Given the description of an element on the screen output the (x, y) to click on. 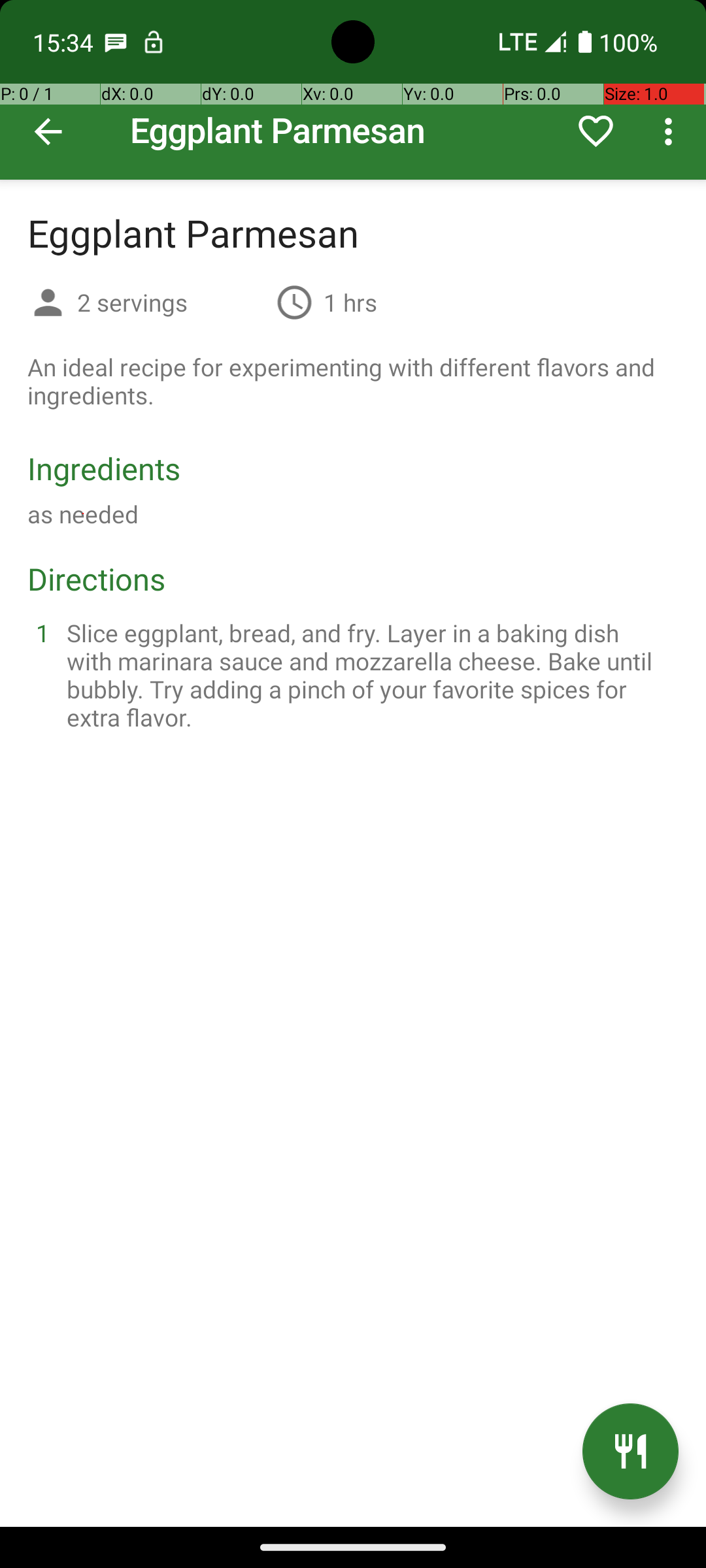
Slice eggplant, bread, and fry. Layer in a baking dish with marinara sauce and mozzarella cheese. Bake until bubbly. Try adding a pinch of your favorite spices for extra flavor. Element type: android.widget.TextView (368, 674)
